Given the description of an element on the screen output the (x, y) to click on. 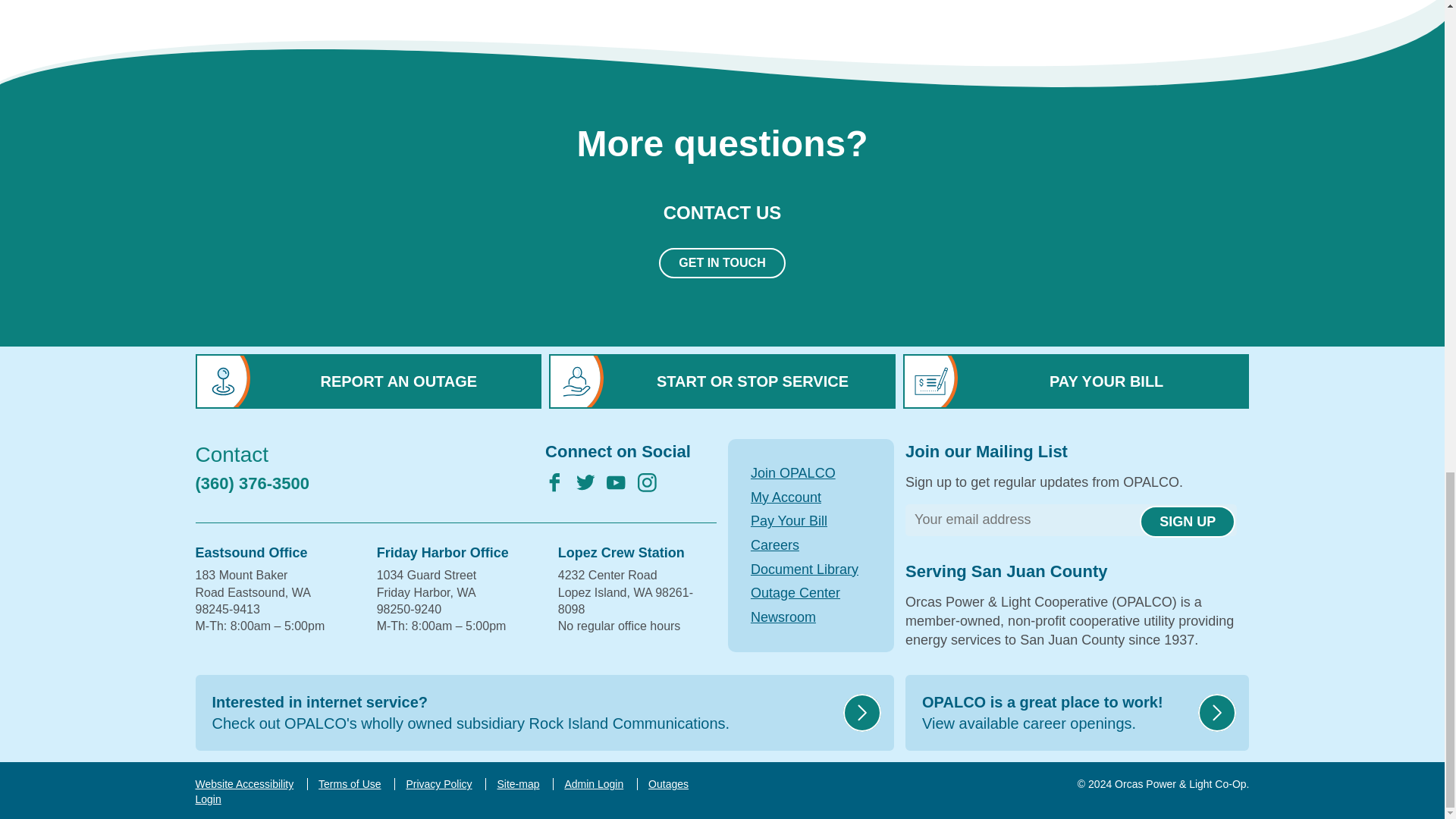
Sign up (1187, 521)
